Given the description of an element on the screen output the (x, y) to click on. 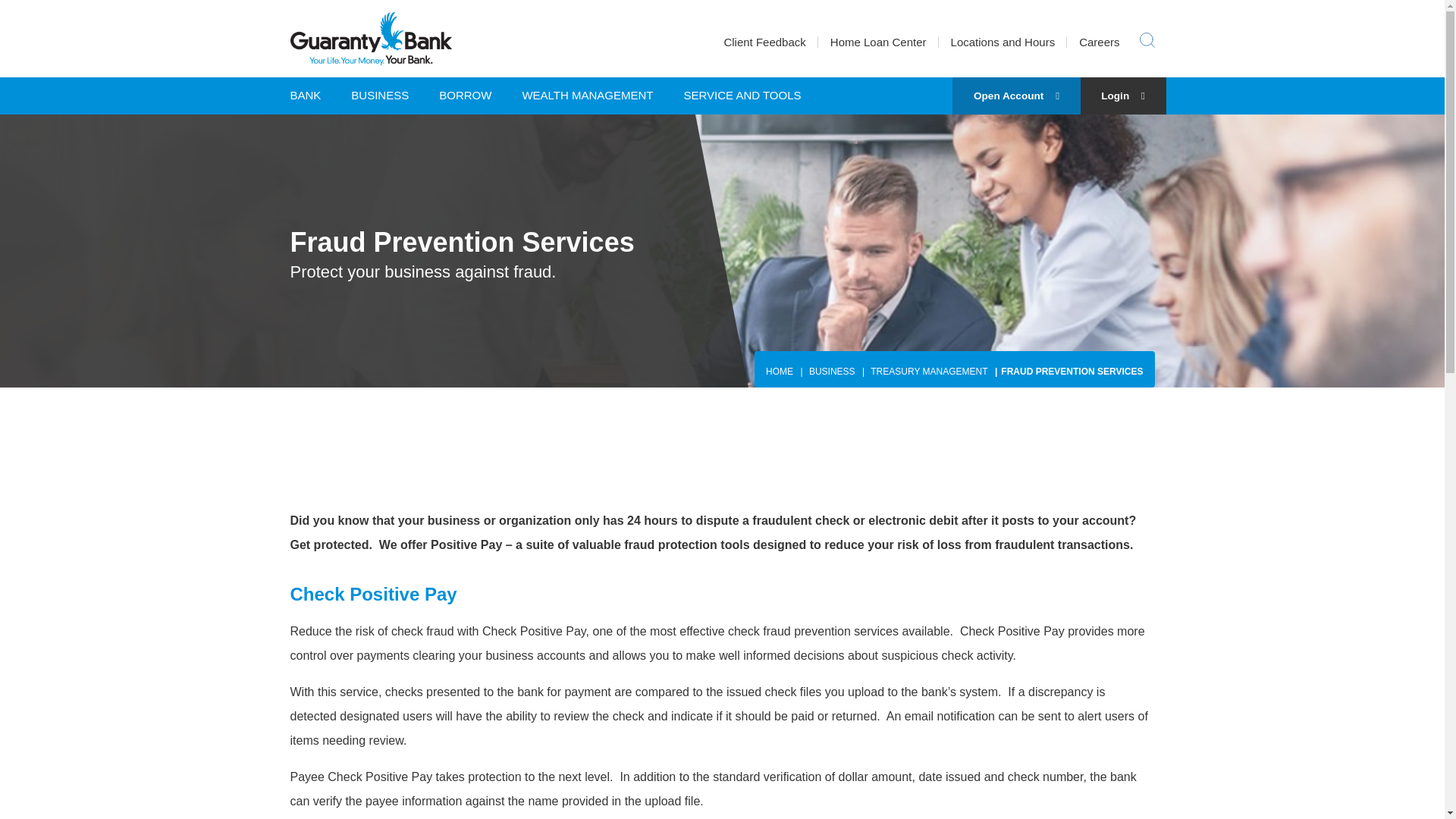
BANK (312, 95)
Client Feedback (764, 42)
Home Loan Center (877, 42)
Locations and Hours (1002, 42)
Guaranty Bank (370, 38)
Careers (1098, 42)
BUSINESS (379, 95)
